Given the description of an element on the screen output the (x, y) to click on. 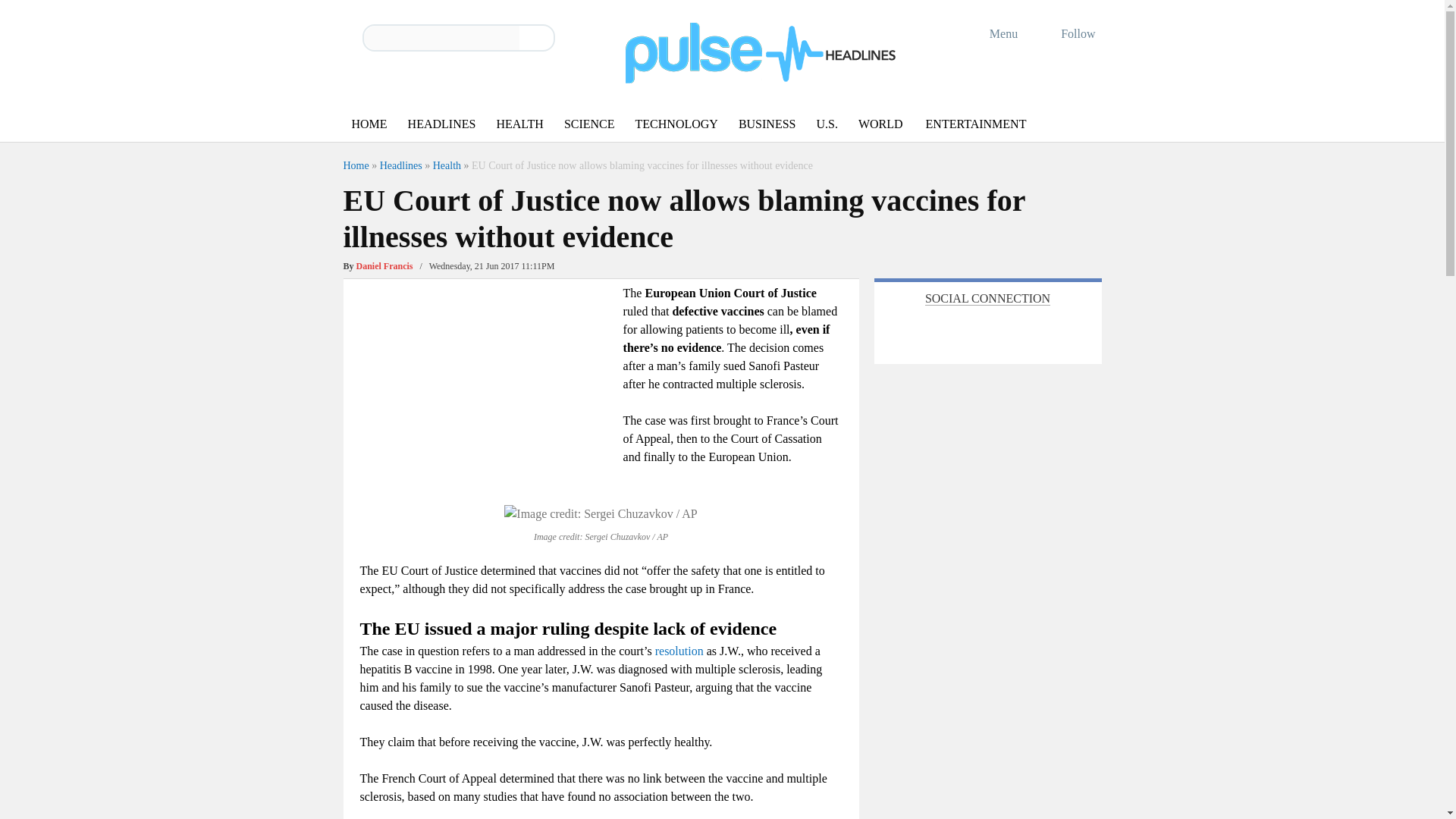
Health (446, 165)
Headlines (401, 165)
Facebook (935, 331)
ENTERTAINMENT (975, 123)
 View all posts by Daniel Francis (384, 266)
Daniel Francis (384, 266)
TECHNOLOGY (676, 123)
Google Plus (968, 331)
BUSINESS (767, 123)
HOME (368, 123)
